Given the description of an element on the screen output the (x, y) to click on. 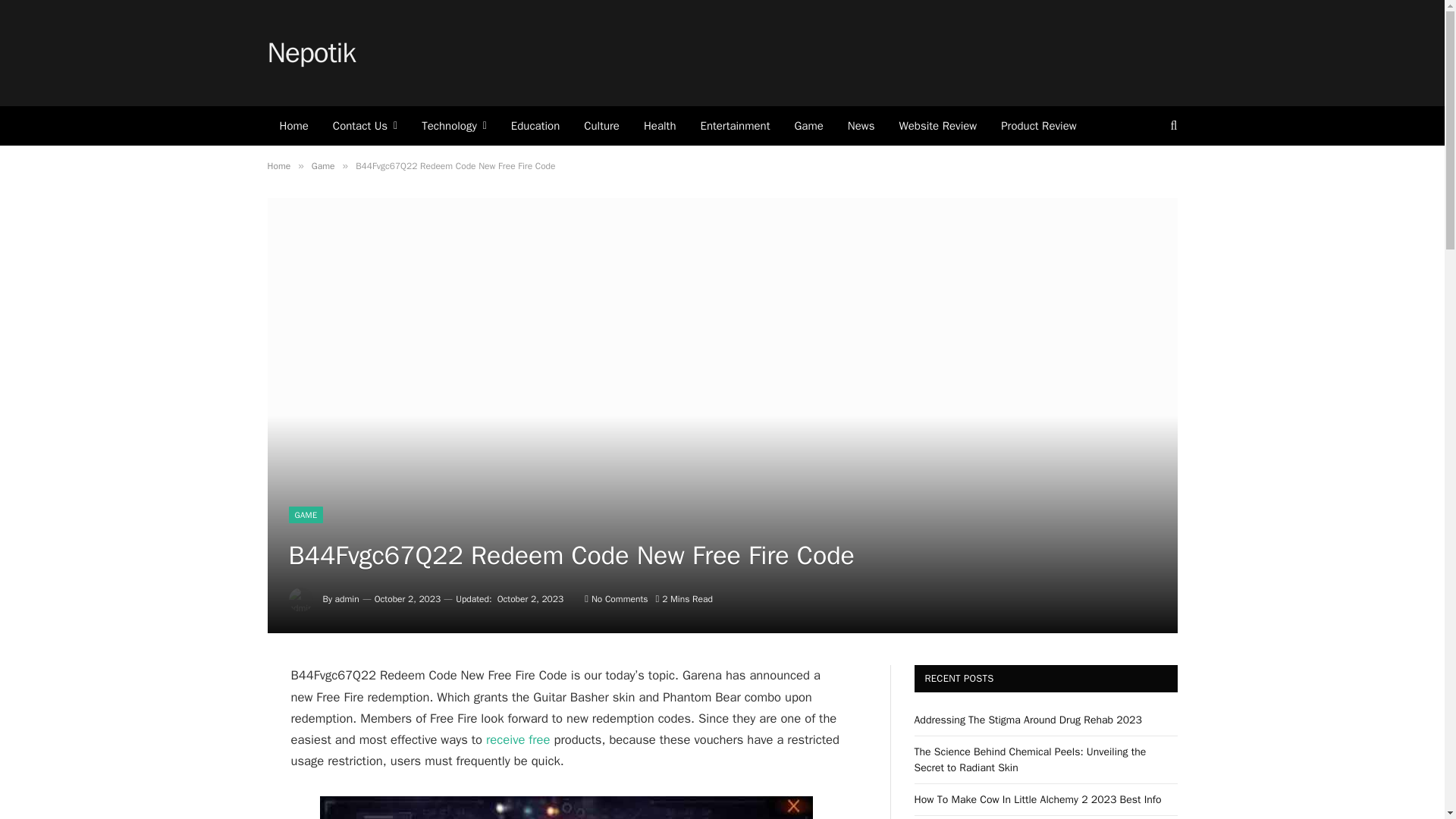
Nepotik (310, 52)
GAME (305, 514)
Nepotik (310, 52)
News (860, 125)
Health (659, 125)
Posts by admin (346, 598)
Home (277, 165)
No Comments (616, 598)
Home (293, 125)
receive free (518, 739)
